Given the description of an element on the screen output the (x, y) to click on. 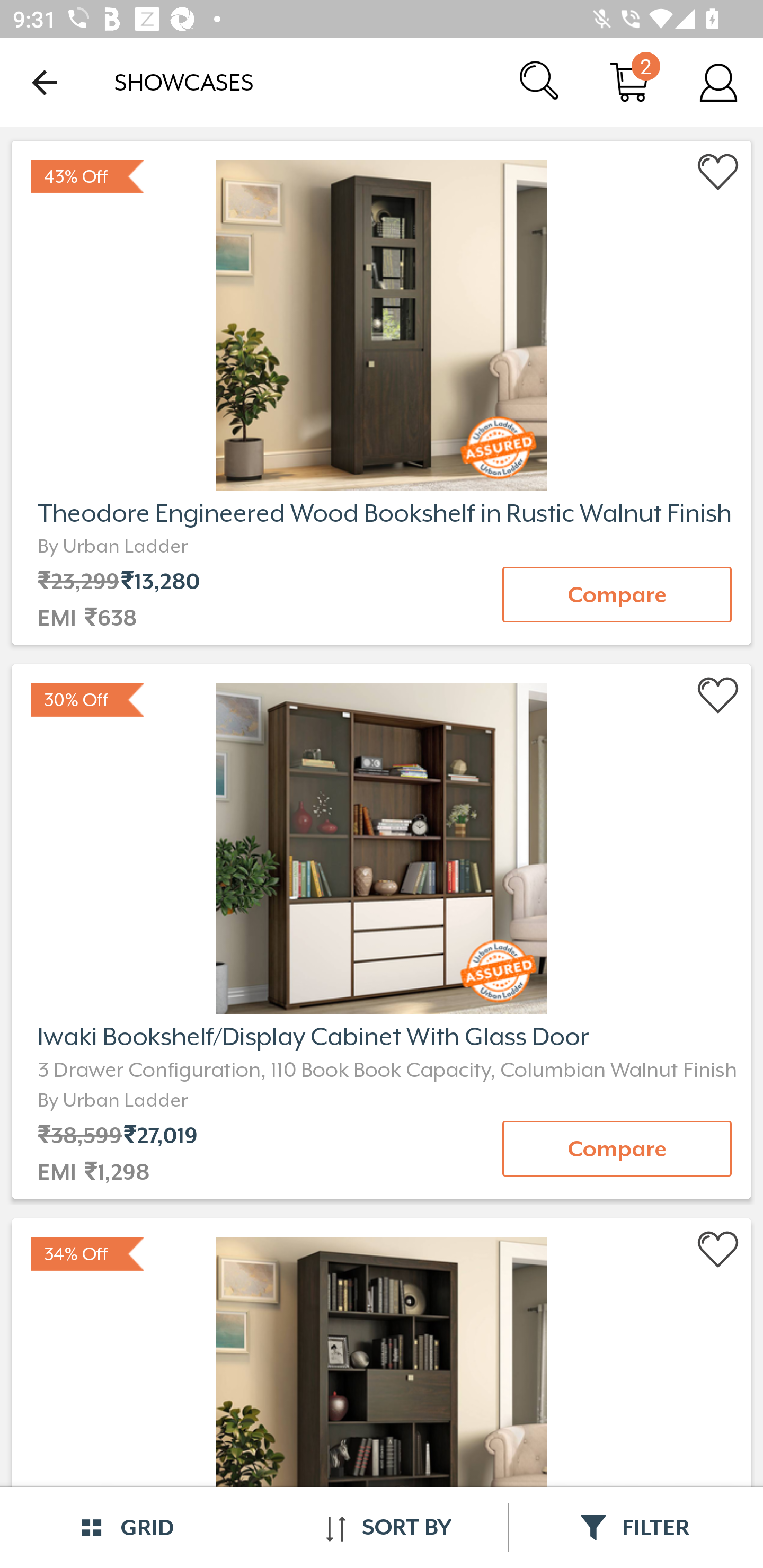
Navigate up (44, 82)
Search (540, 81)
Cart (629, 81)
Account Details (718, 81)
 (718, 172)
Compare (616, 594)
 (718, 695)
Compare (616, 1148)
34% Off  (381, 1390)
 (718, 1250)
 GRID (127, 1527)
SORT BY (381, 1527)
 FILTER (635, 1527)
